Given the description of an element on the screen output the (x, y) to click on. 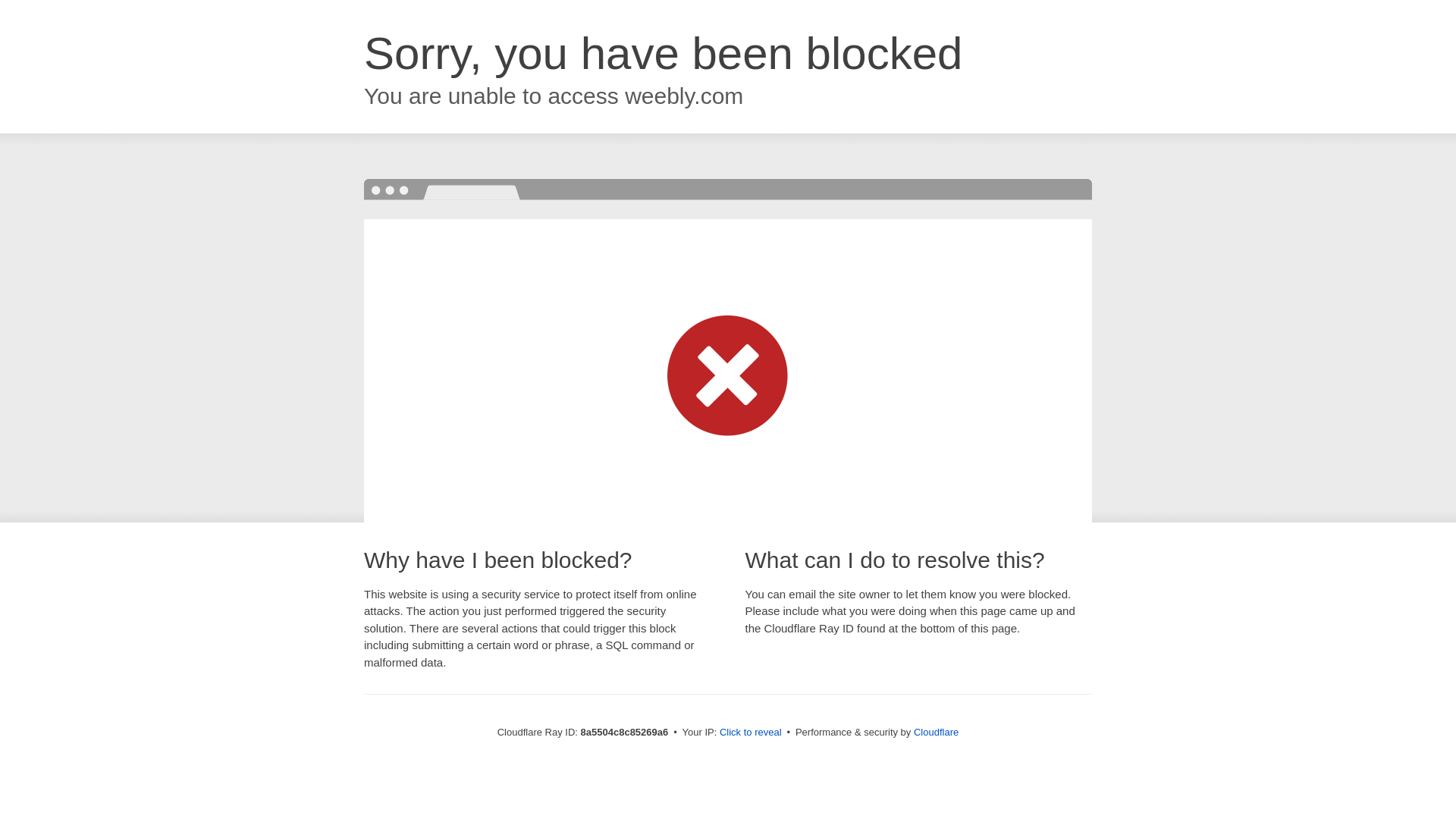
Cloudflare (936, 731)
Click to reveal (750, 732)
